Given the description of an element on the screen output the (x, y) to click on. 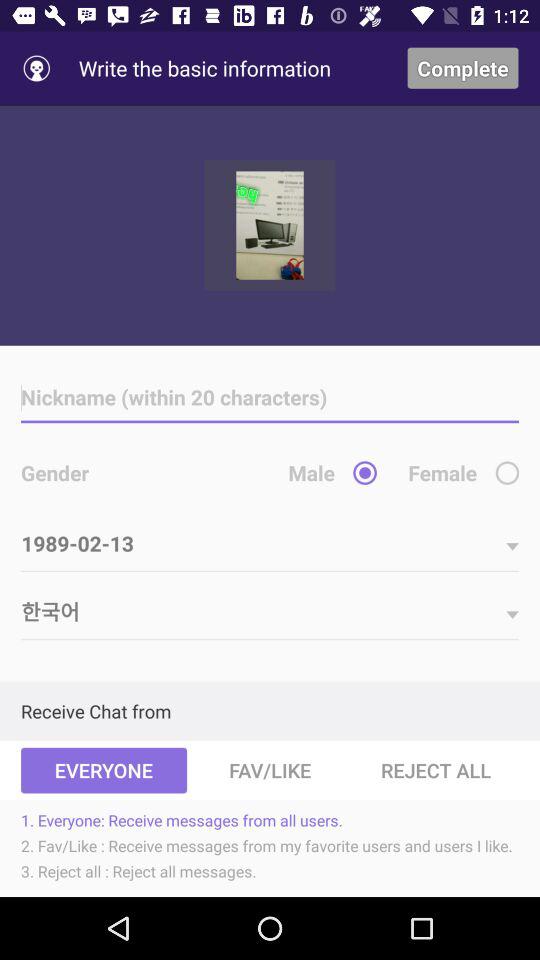
male option (364, 472)
